Given the description of an element on the screen output the (x, y) to click on. 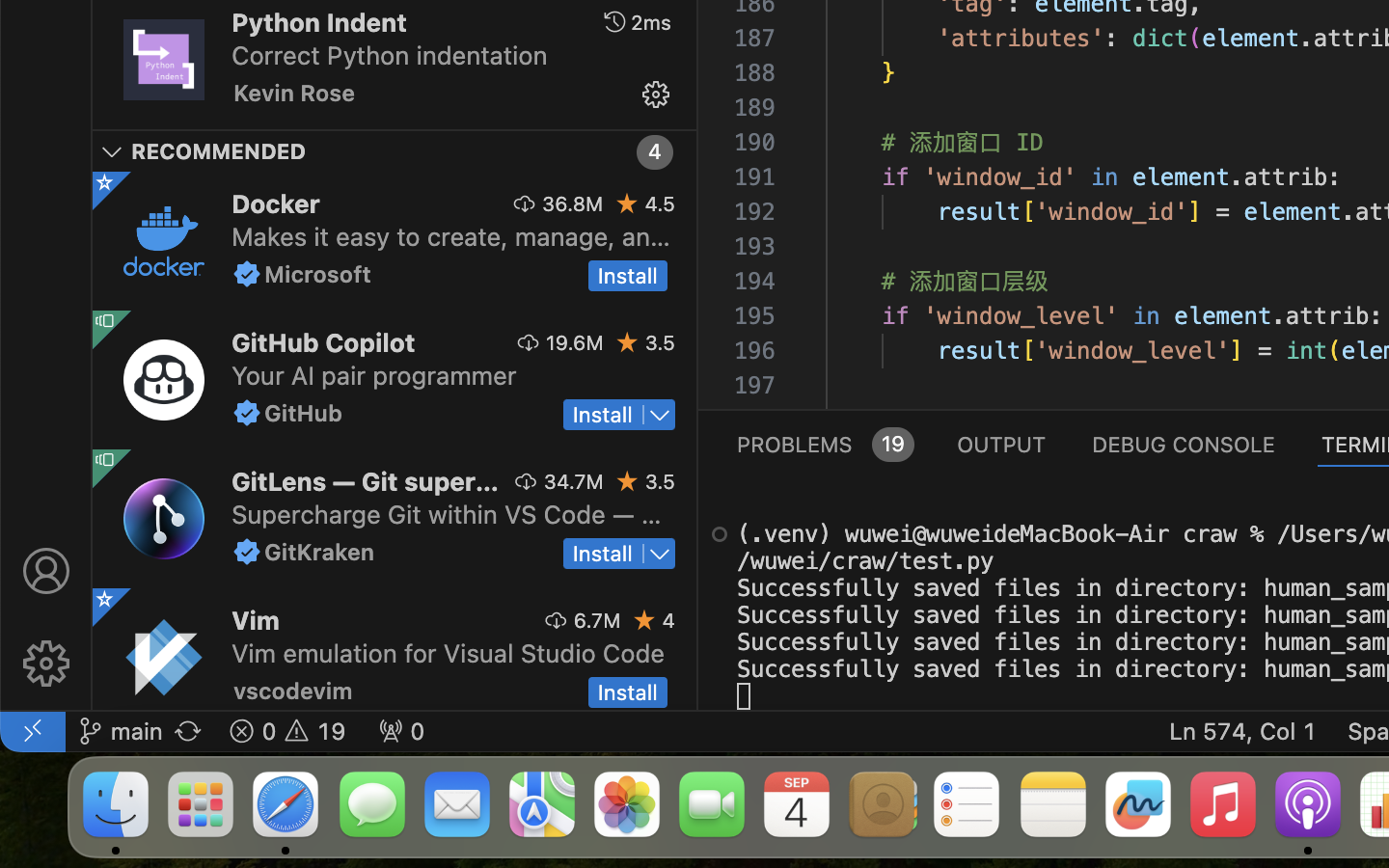
GitHub Element type: AXStaticText (303, 412)
 Element type: AXStaticText (104, 320)
Microsoft Element type: AXStaticText (318, 273)
 Element type: AXStaticText (627, 203)
 Element type: AXStaticText (523, 203)
